Given the description of an element on the screen output the (x, y) to click on. 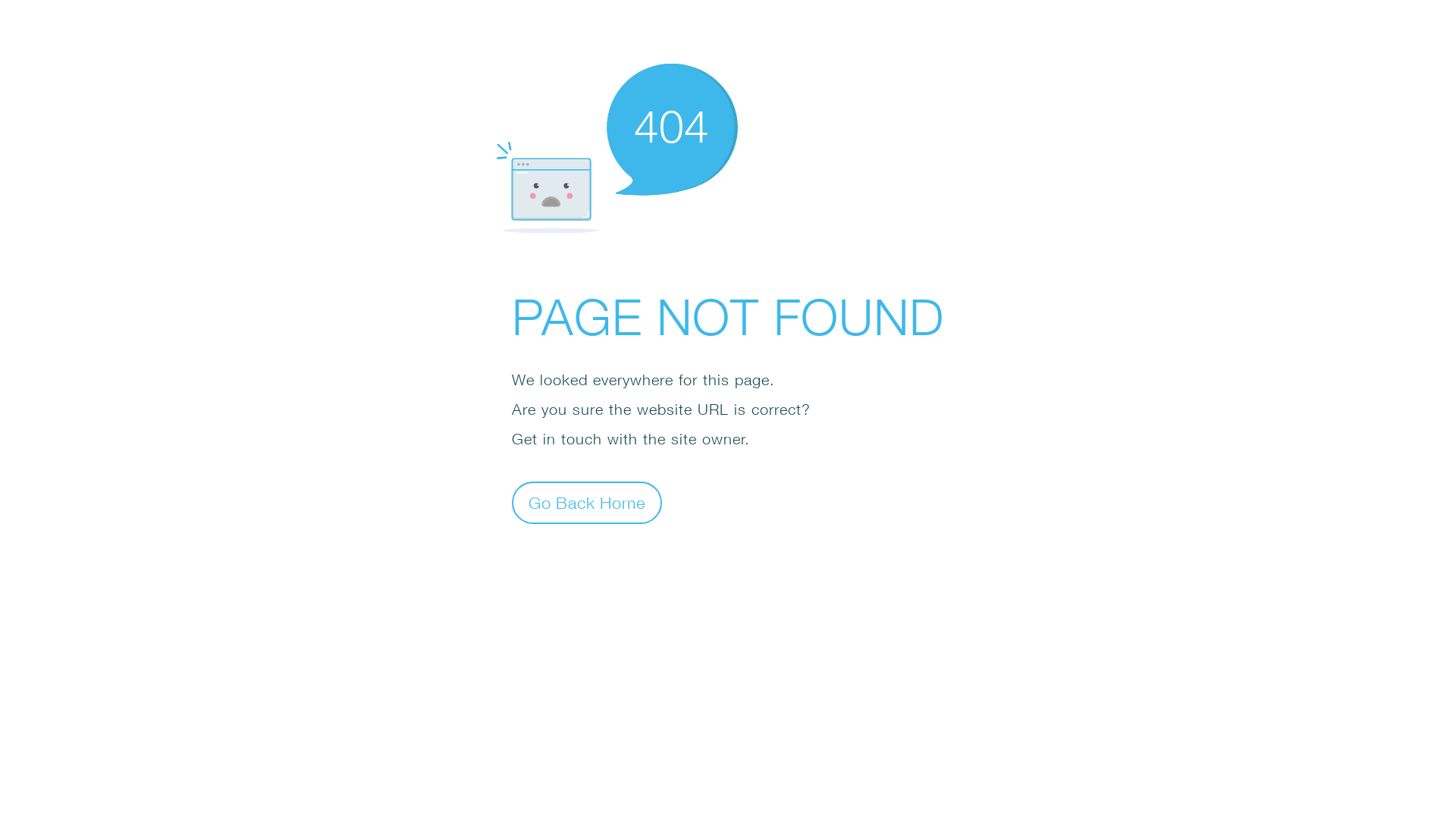
Go Back Home Element type: text (586, 502)
